Given the description of an element on the screen output the (x, y) to click on. 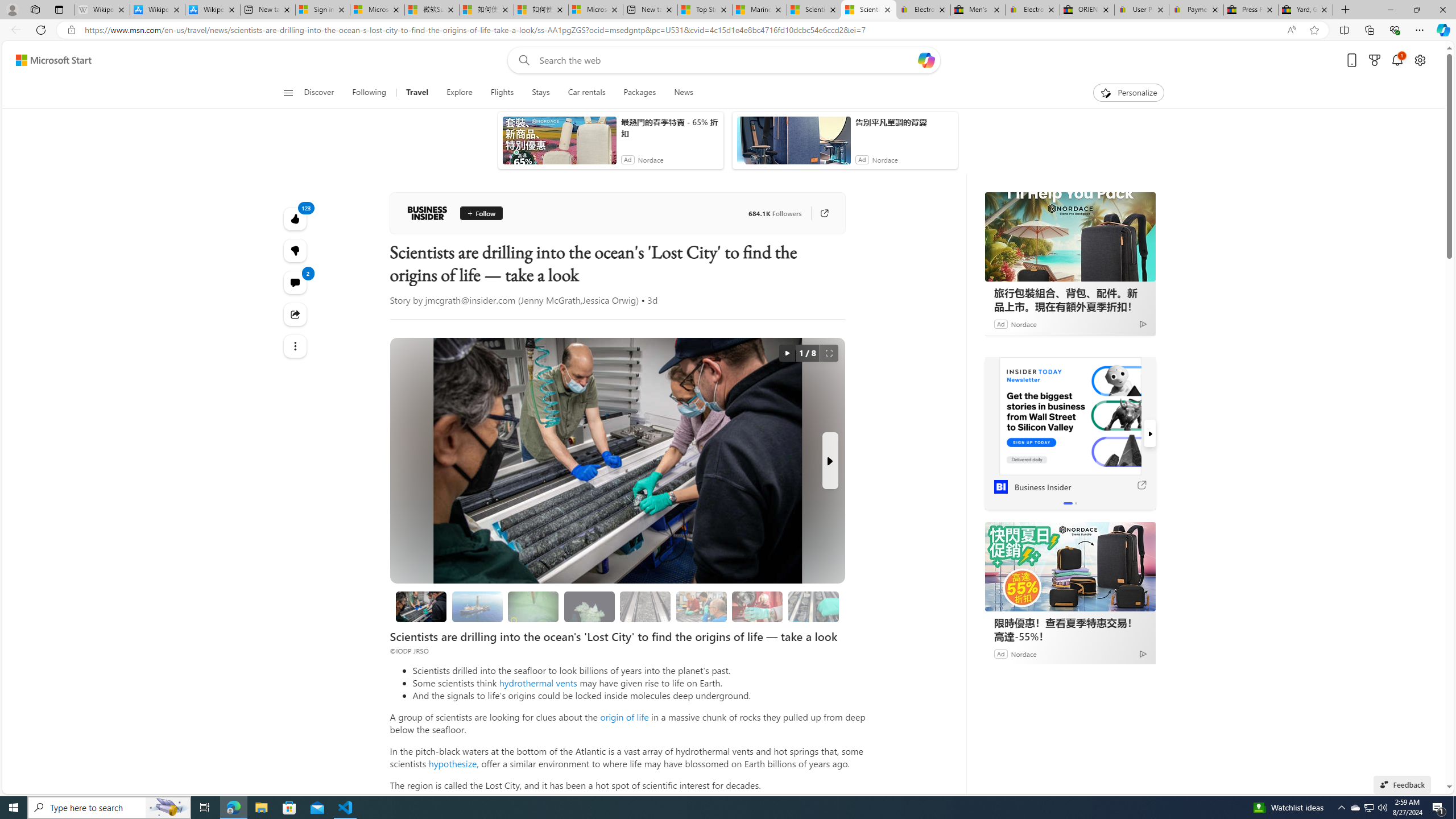
The Lost City could hold clues to the origin of life. (588, 606)
Business Insider (1000, 372)
Looking for evidence of oxygen-free life (701, 606)
